Given the description of an element on the screen output the (x, y) to click on. 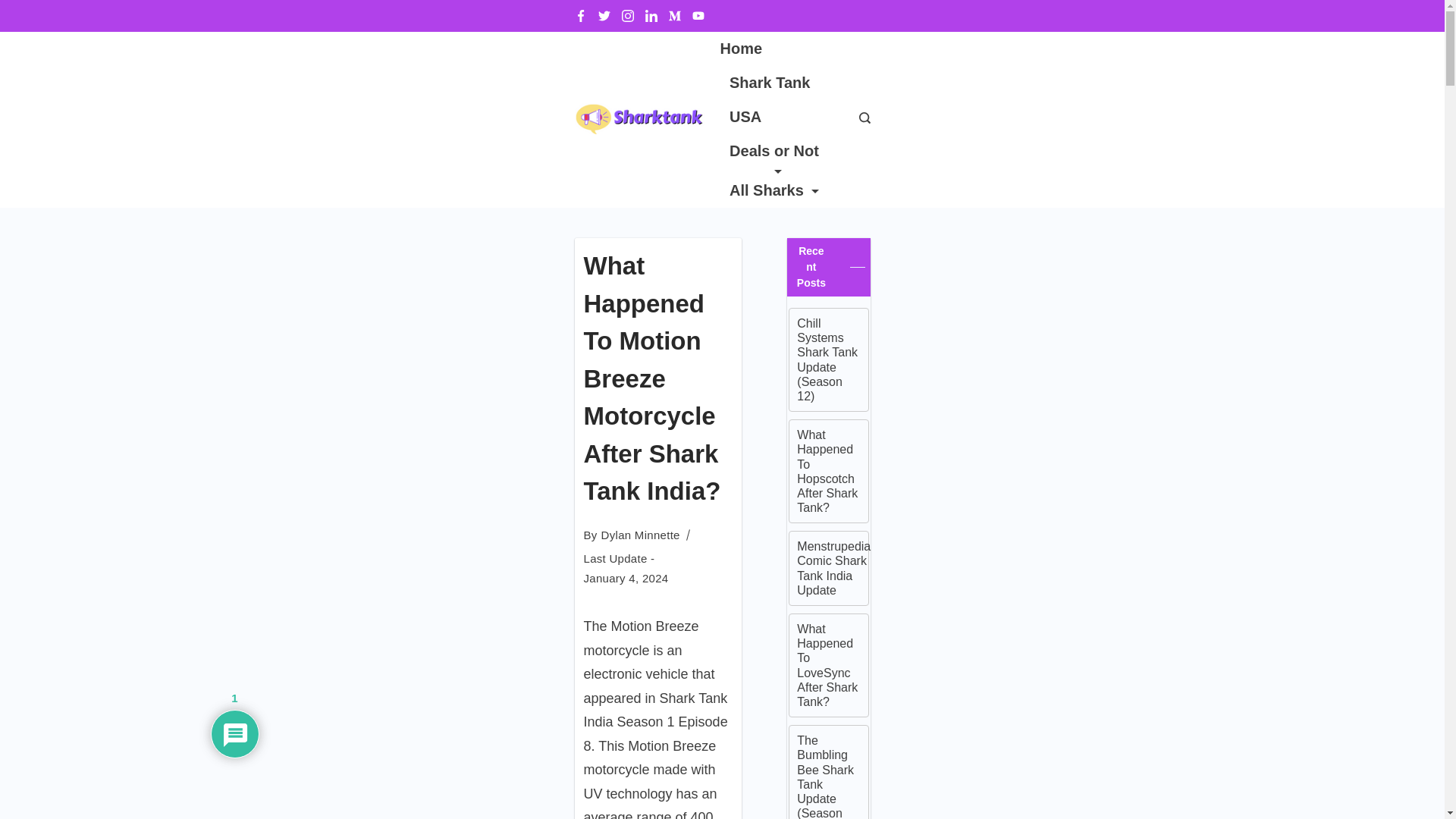
Home (745, 48)
All Sharks (769, 190)
Shark Tank USA (774, 100)
Deals or Not (774, 153)
Dylan Minnette (640, 533)
